Given the description of an element on the screen output the (x, y) to click on. 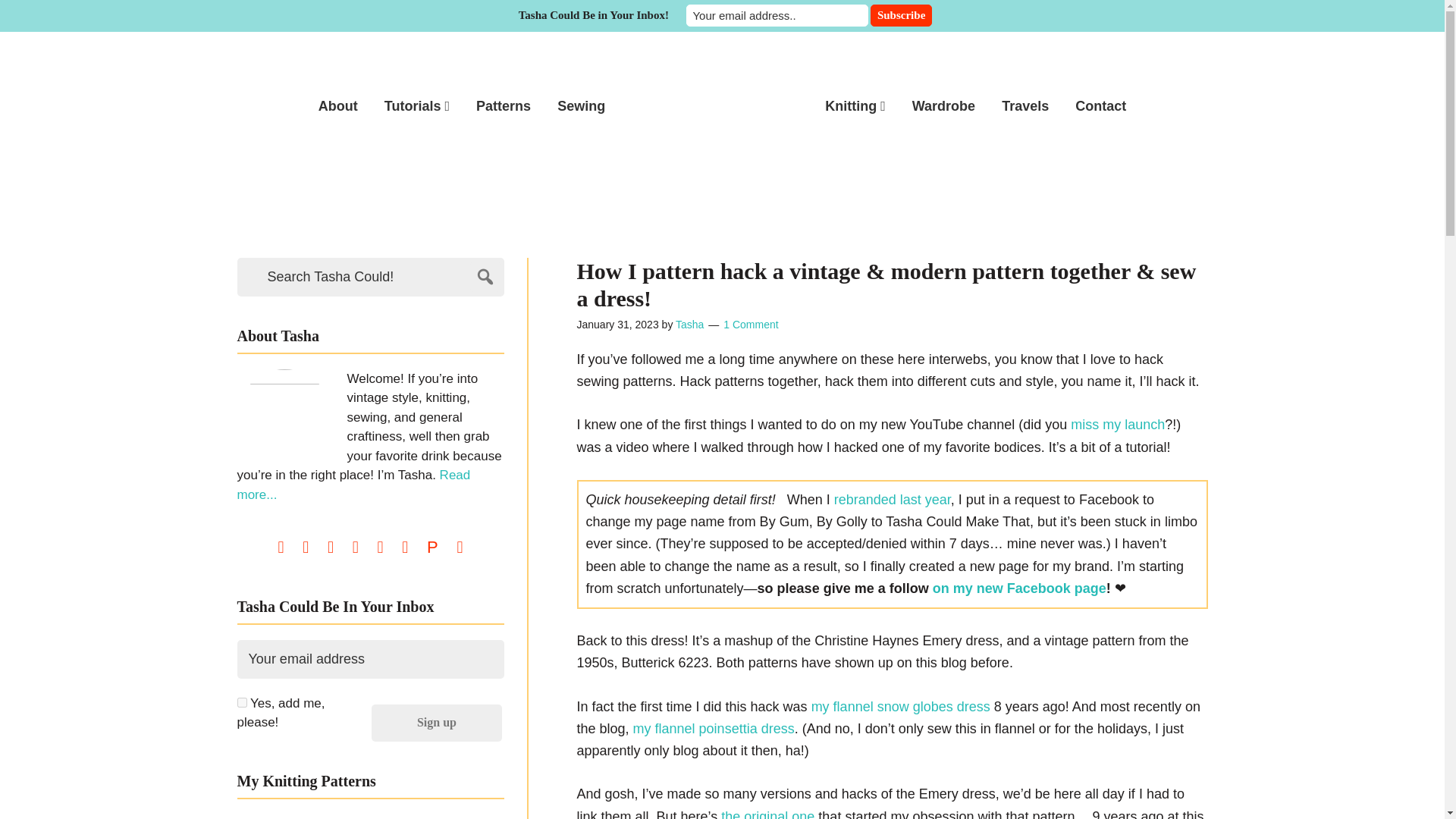
the original one (766, 813)
Subscribe (900, 15)
Wardrobe (944, 106)
1 Comment (750, 324)
my flannel poinsettia dress (713, 728)
Travels (1024, 106)
rebranded last year (892, 499)
Patterns (502, 106)
About (338, 106)
Sewing (580, 106)
